Given the description of an element on the screen output the (x, y) to click on. 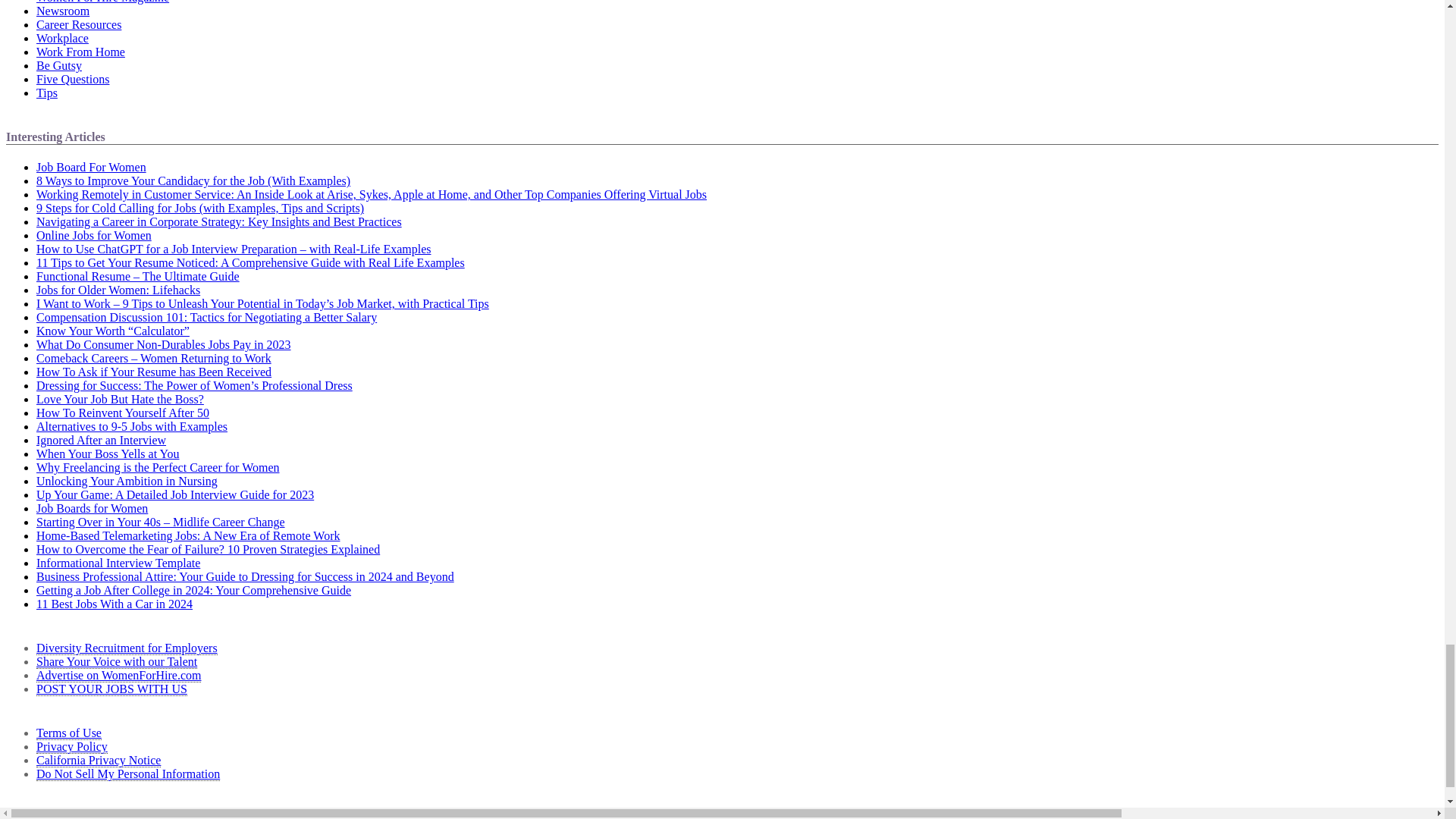
Job Board For Women (91, 166)
